Given the description of an element on the screen output the (x, y) to click on. 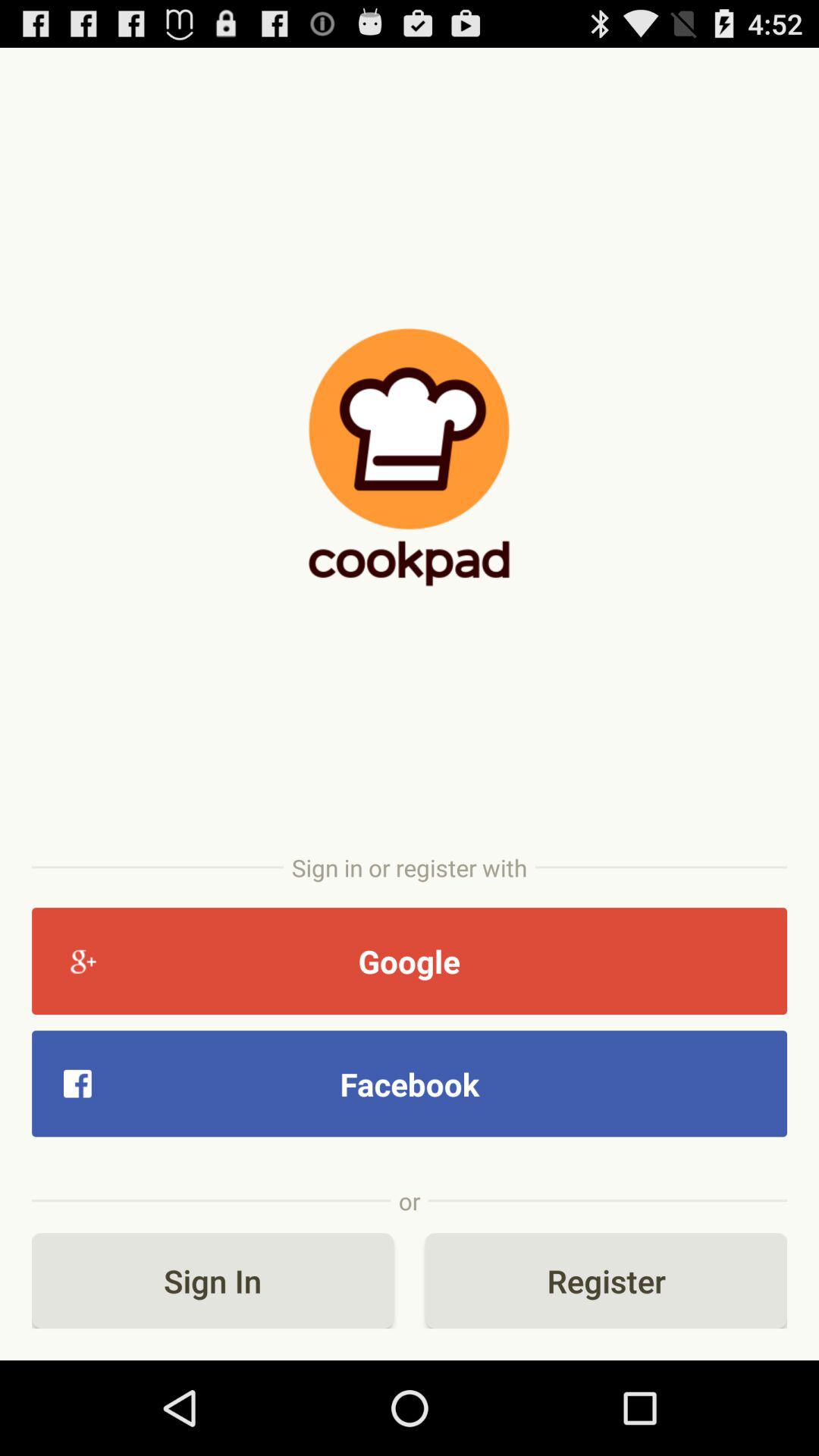
jump to facebook item (409, 1083)
